Given the description of an element on the screen output the (x, y) to click on. 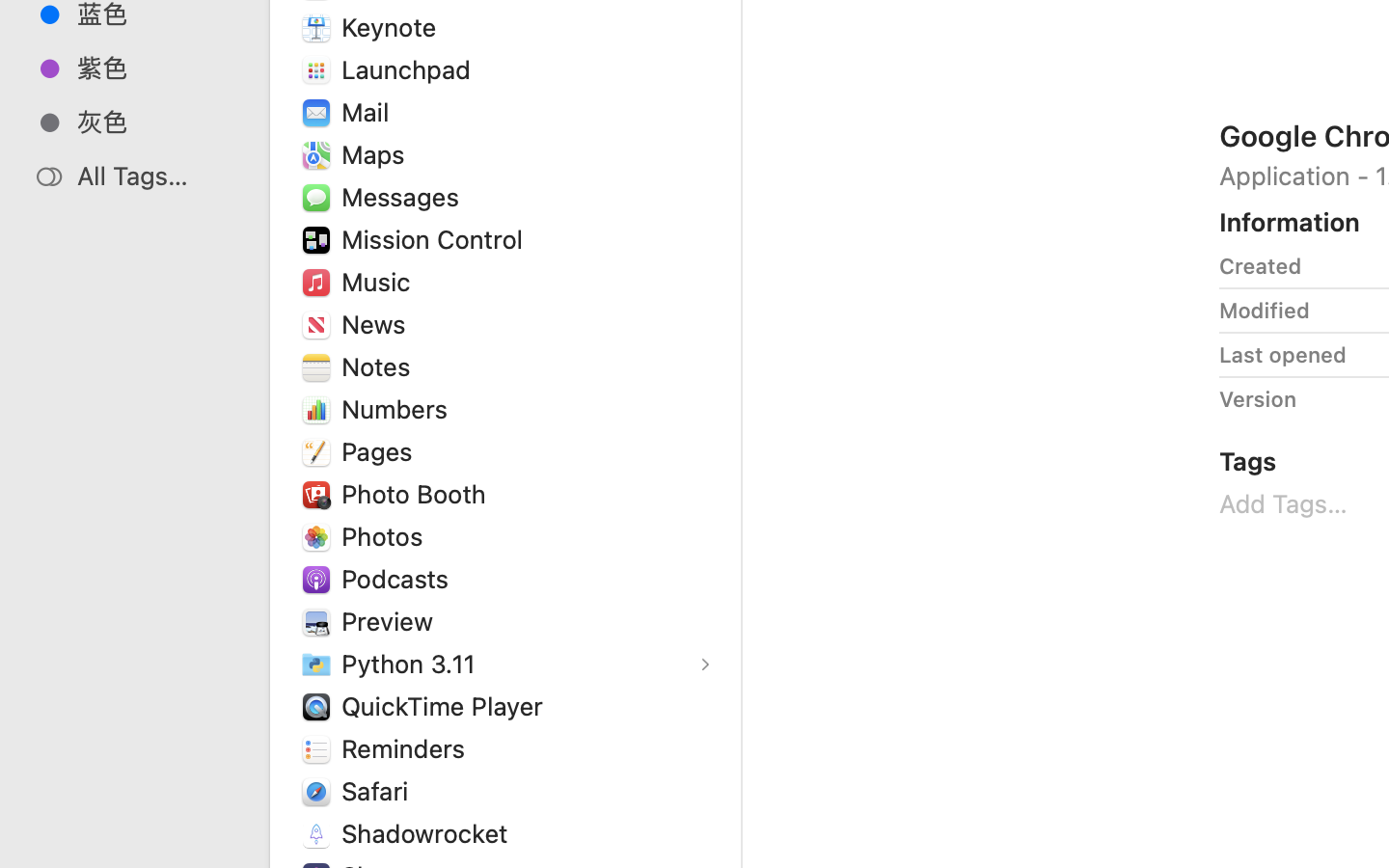
0 Element type: AXRadioButton (23, 846)
Messages Element type: AXTextField (403, 196)
Preview Element type: AXTextField (391, 620)
Tags Element type: AXStaticText (1247, 460)
Last opened Element type: AXStaticText (1282, 354)
